Given the description of an element on the screen output the (x, y) to click on. 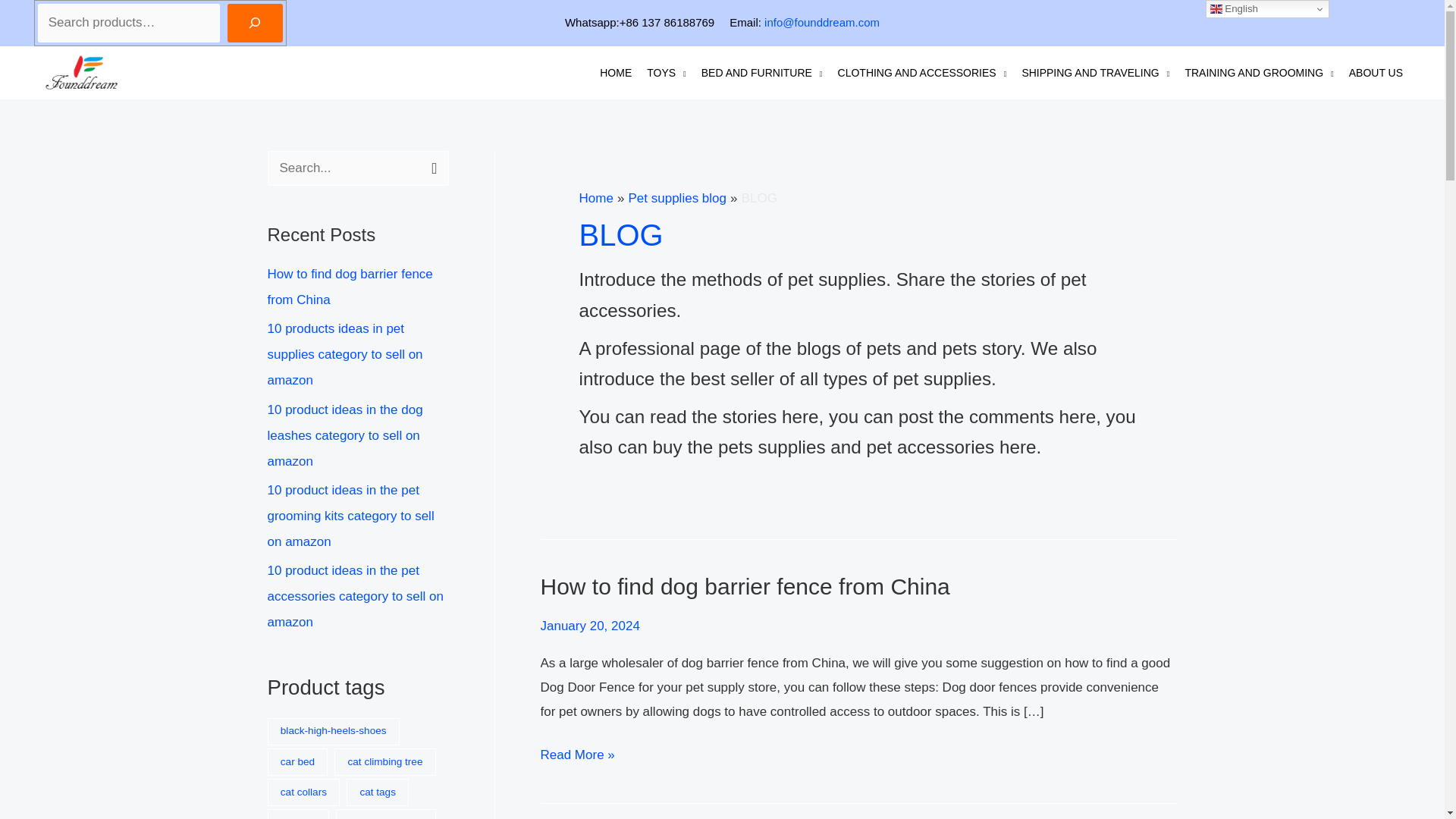
HOME (615, 72)
CLOTHING AND ACCESSORIES (921, 72)
BED AND FURNITURE (761, 72)
SHIPPING AND TRAVELING (1094, 72)
TRAINING AND GROOMING (1258, 72)
Search (430, 166)
TOYS (666, 72)
Search (430, 166)
ABOUT US (1375, 72)
